Given the description of an element on the screen output the (x, y) to click on. 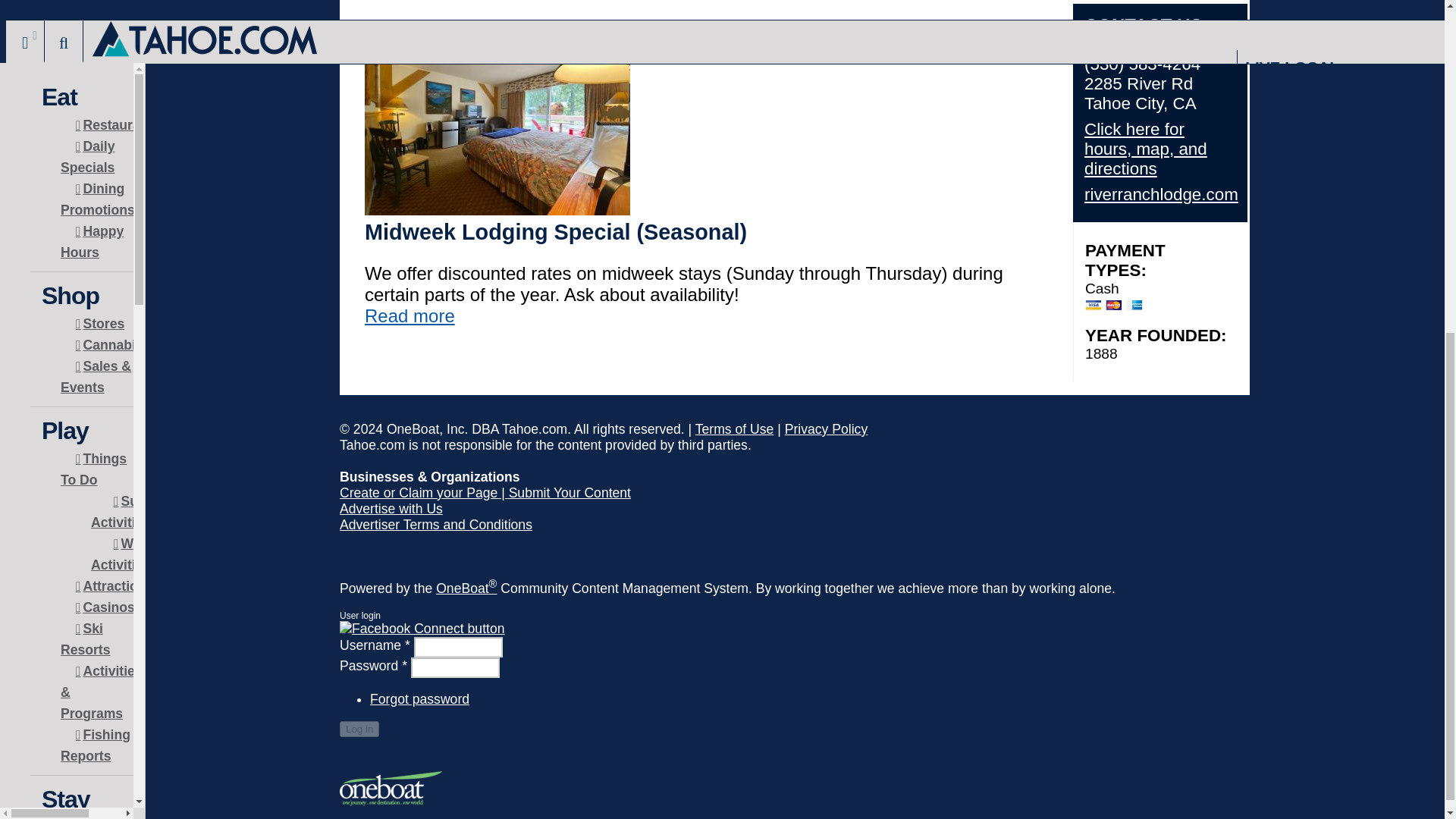
Attractions (114, 22)
Fishing Reports (96, 180)
Ski Resorts (93, 75)
Places To Stay (93, 273)
Casinos (105, 43)
Winter Activities (127, 4)
